Given the description of an element on the screen output the (x, y) to click on. 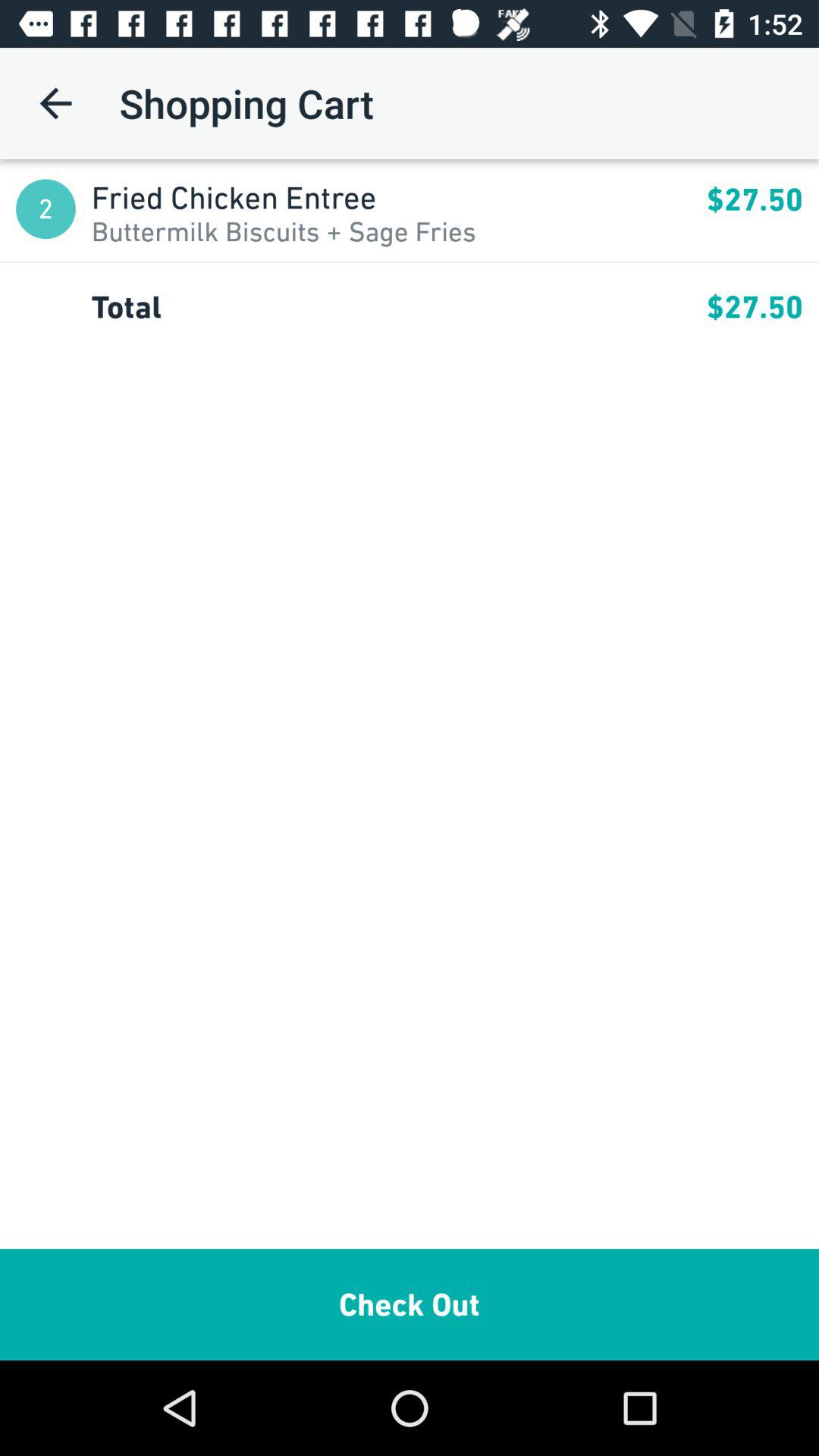
tap app above the check out item (398, 306)
